Given the description of an element on the screen output the (x, y) to click on. 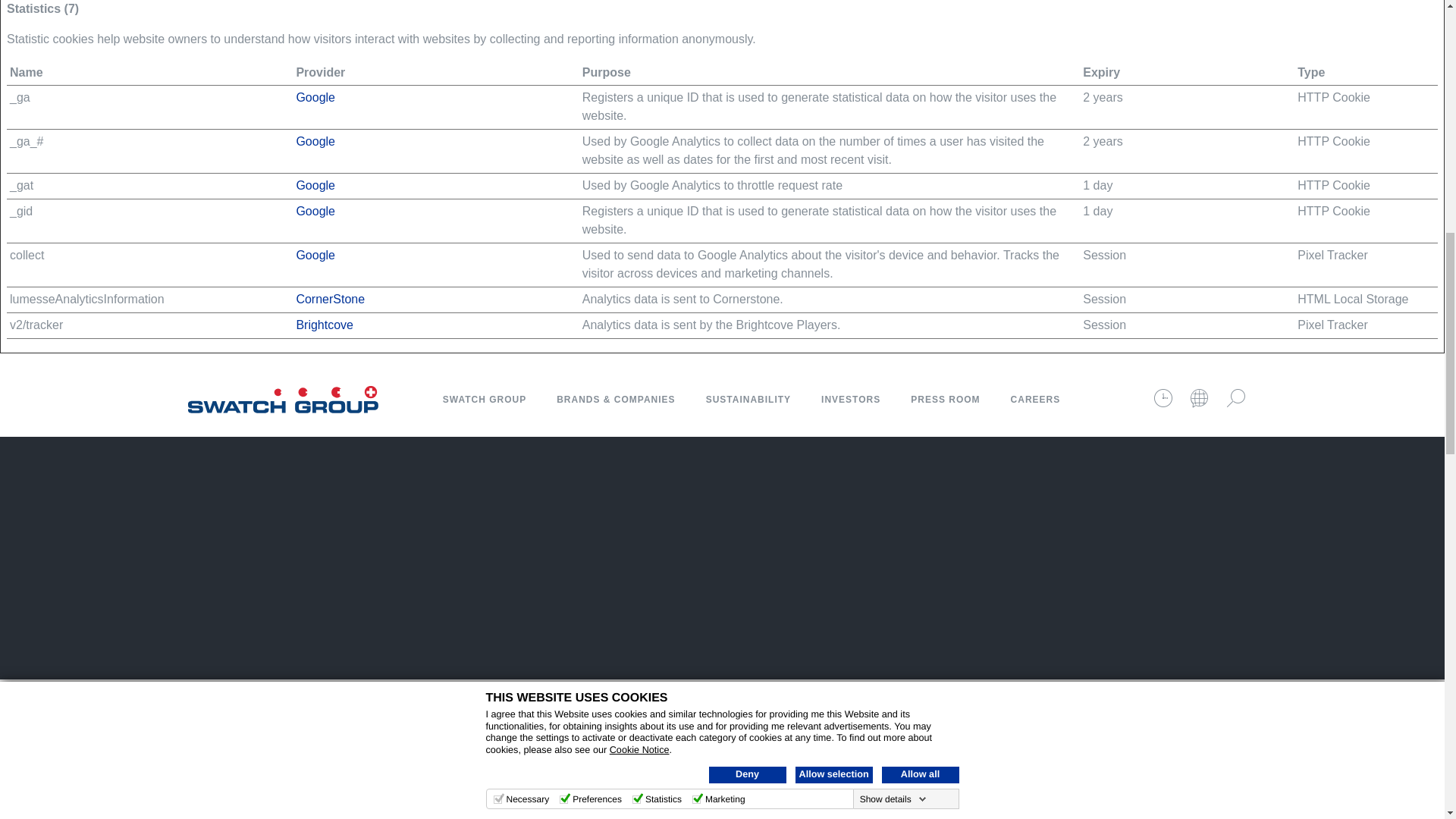
Google (314, 185)
Google's privacy policy (314, 254)
Google's privacy policy (314, 185)
Brightcove's privacy policy (324, 324)
Google's privacy policy (314, 141)
CornerStone's privacy policy (330, 298)
Google's privacy policy (314, 97)
Google (314, 210)
Brightcove (324, 324)
Google (314, 141)
CornerStone (330, 298)
Google's privacy policy (314, 210)
Google (314, 97)
Google (314, 254)
